Given the description of an element on the screen output the (x, y) to click on. 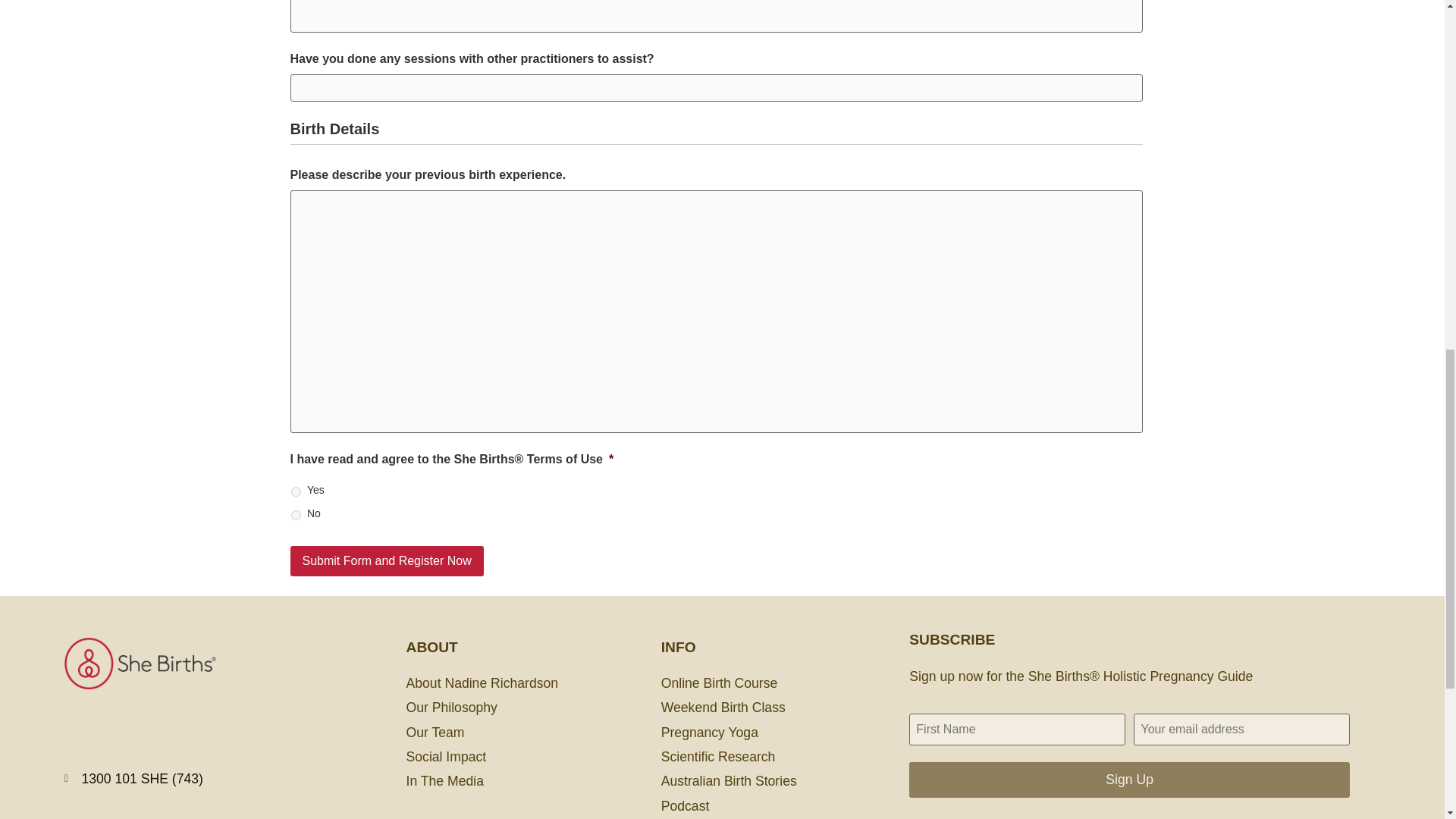
No (296, 515)
Sign Up (1128, 779)
Submit Form and Register Now (386, 561)
Yes (296, 491)
